Given the description of an element on the screen output the (x, y) to click on. 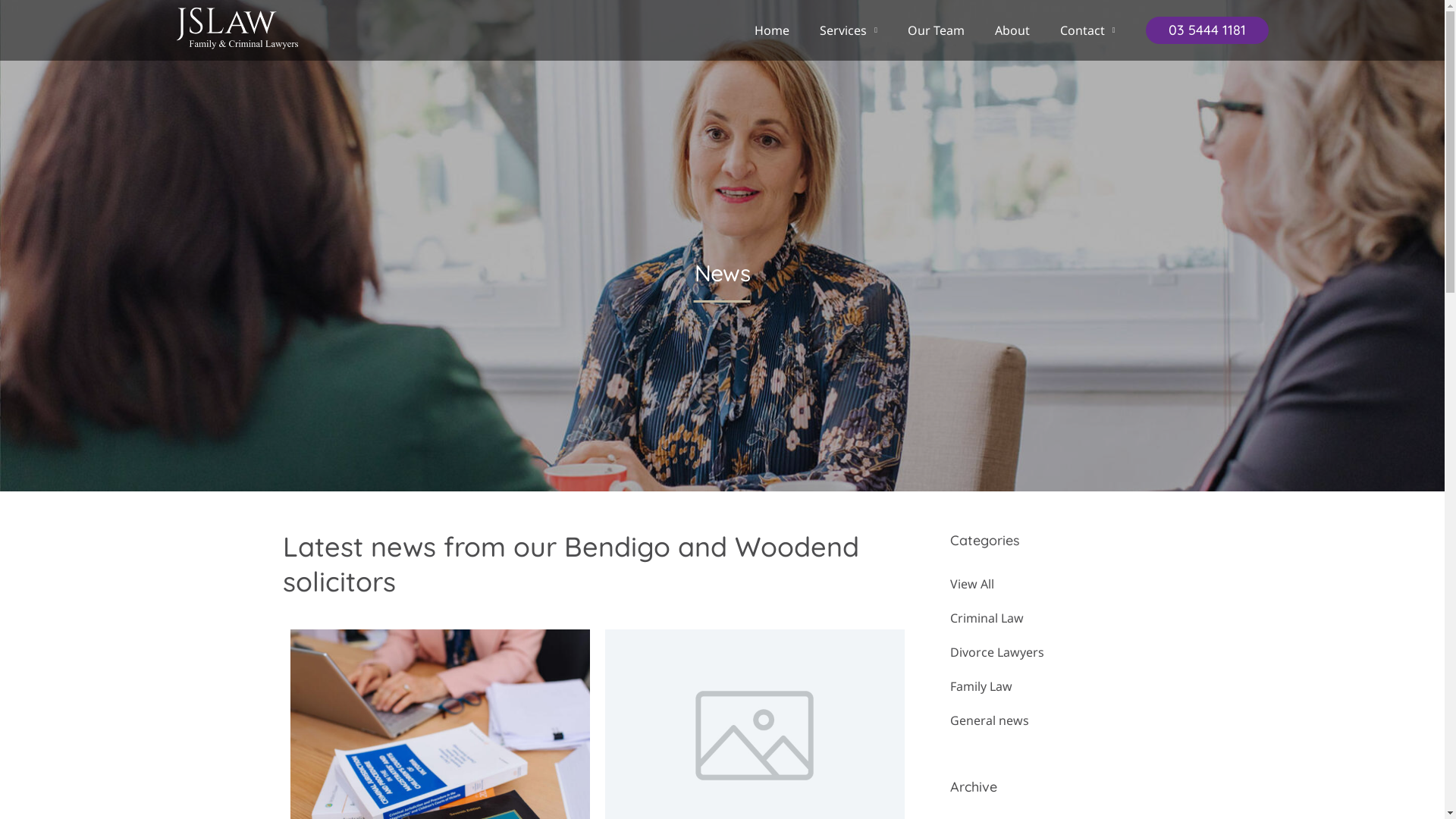
About Element type: text (1011, 29)
Our Team Element type: text (935, 29)
03 5444 1181 Element type: text (1206, 29)
Criminal Law Element type: text (1055, 618)
General news Element type: text (1055, 720)
Divorce Lawyers Element type: text (1055, 652)
Family Law Element type: text (1055, 686)
Contact Element type: text (1087, 29)
Home Element type: text (771, 29)
View All Element type: text (1055, 584)
Services Element type: text (848, 29)
